Given the description of an element on the screen output the (x, y) to click on. 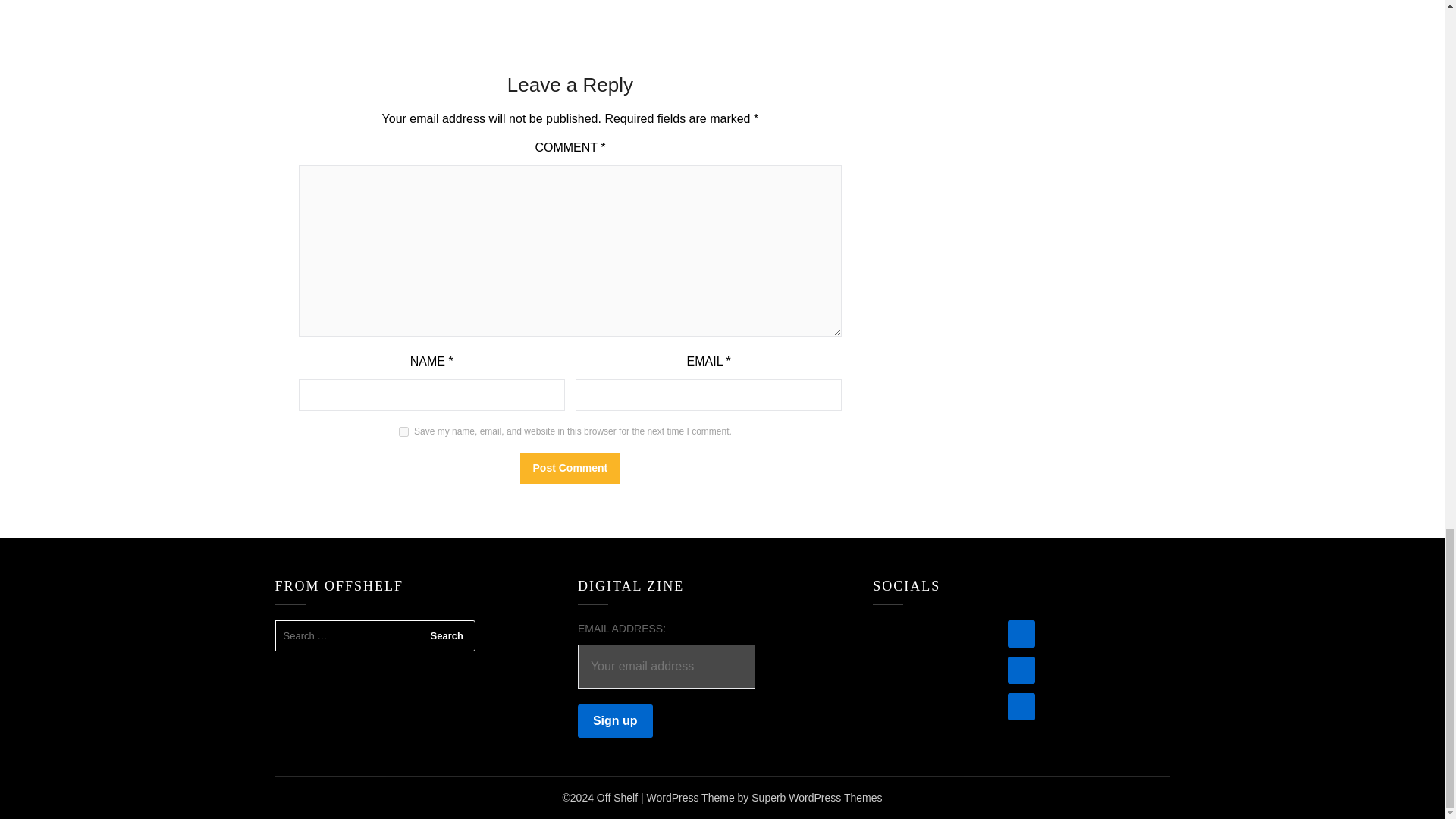
Sign up (615, 720)
Sign up (615, 720)
Search (447, 635)
Post Comment (570, 468)
Search (447, 635)
Post Comment (570, 468)
Search (447, 635)
yes (403, 431)
